Given the description of an element on the screen output the (x, y) to click on. 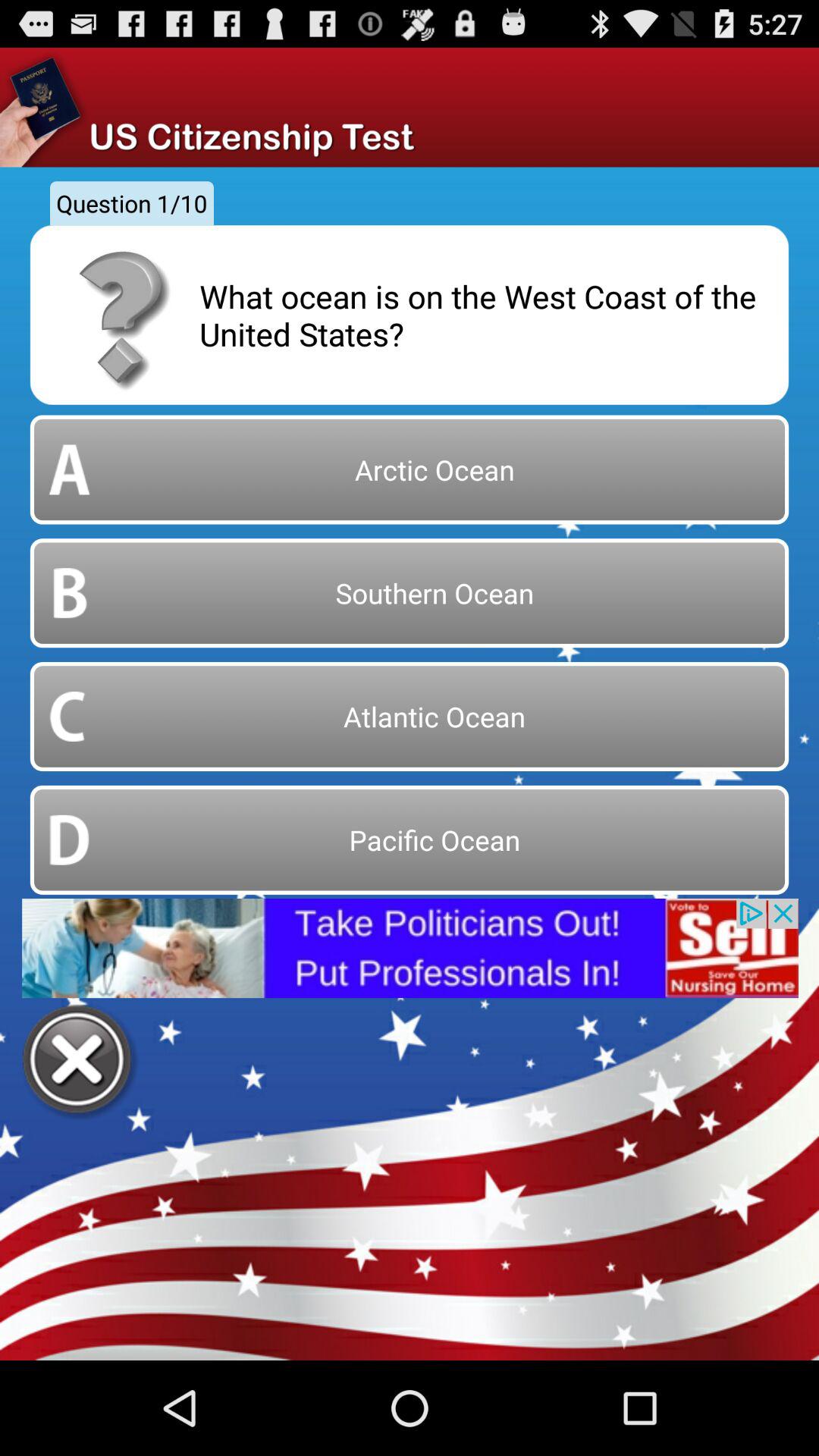
exit test (79, 1061)
